Given the description of an element on the screen output the (x, y) to click on. 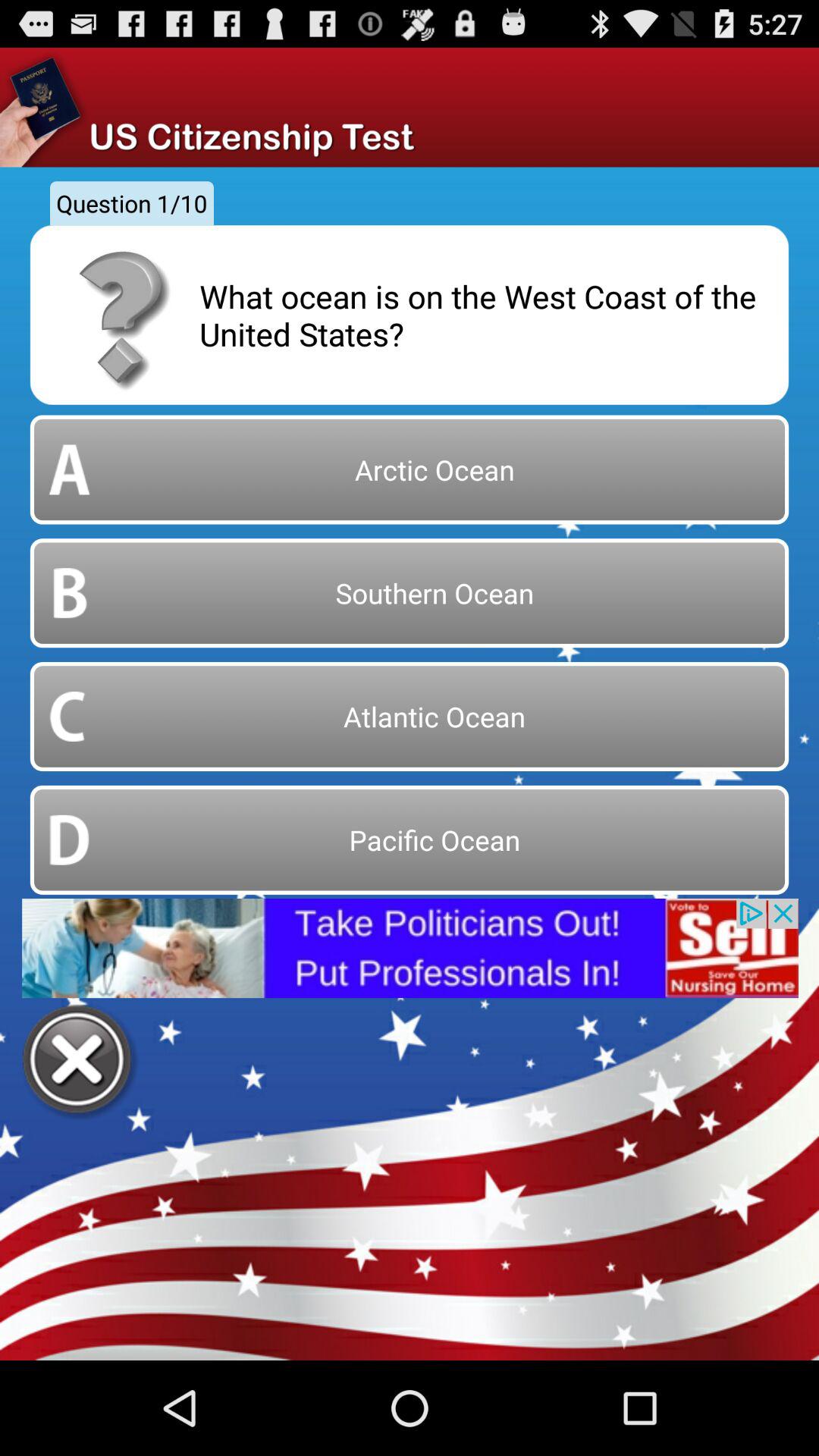
exit test (79, 1061)
